Given the description of an element on the screen output the (x, y) to click on. 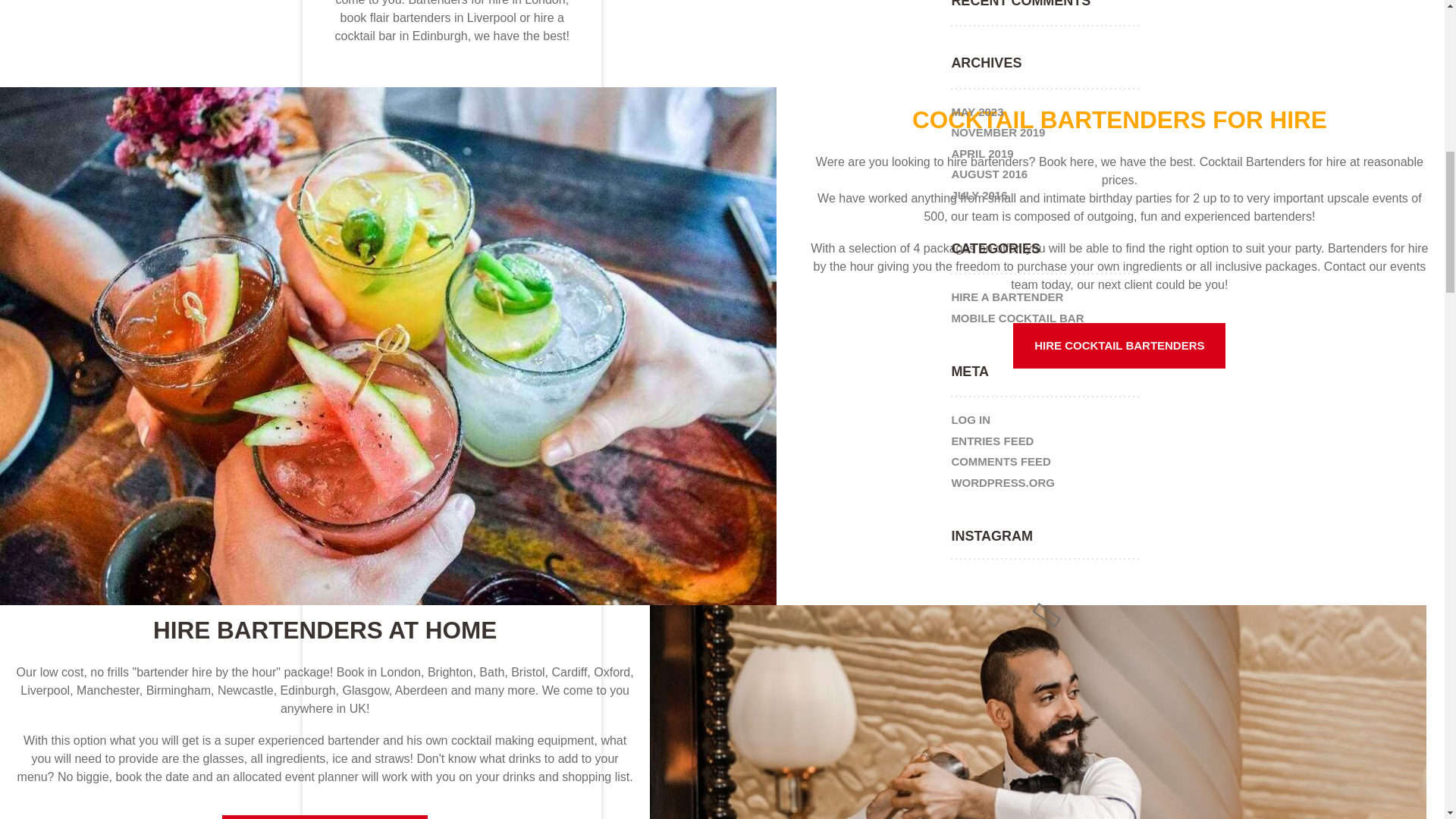
HIRE BARTENDERS AT HOME (325, 816)
JULY 2016 (978, 194)
APRIL 2019 (981, 153)
LOG IN (970, 420)
ENTRIES FEED (991, 441)
AUGUST 2016 (988, 174)
HIRE COCKTAIL BARTENDERS (1119, 345)
MAY 2023 (976, 113)
MOBILE COCKTAIL BAR (1016, 317)
HIRE A BARTENDER (1006, 298)
NOVEMBER 2019 (997, 132)
